Given the description of an element on the screen output the (x, y) to click on. 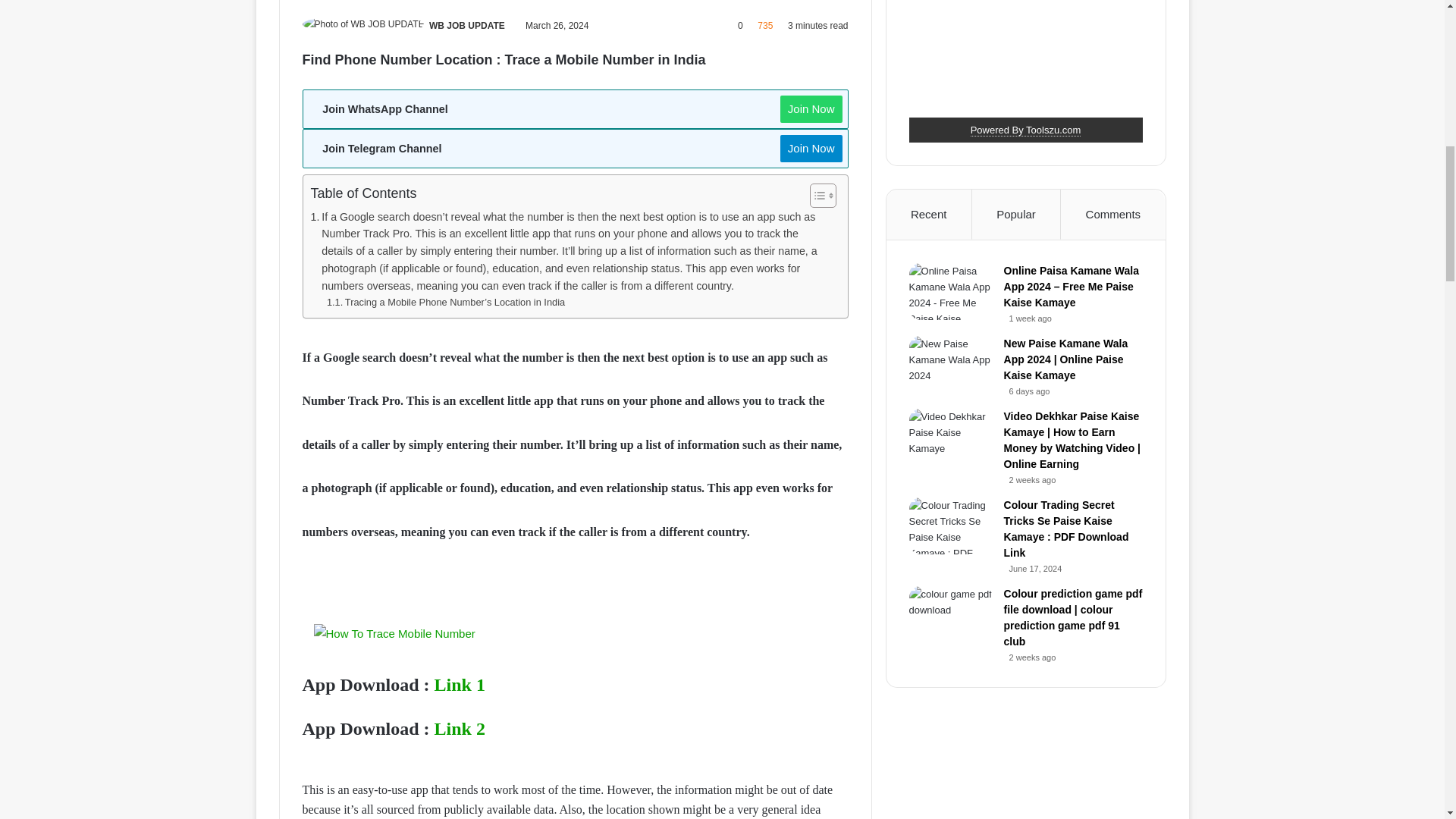
Link 1 (458, 684)
How To Trace Mobile Number (395, 633)
Loan EMI Calculator (1026, 130)
Link 2 (458, 728)
Join Now (811, 148)
Join Now (811, 108)
WB JOB UPDATE (467, 25)
WB JOB UPDATE (467, 25)
